Given the description of an element on the screen output the (x, y) to click on. 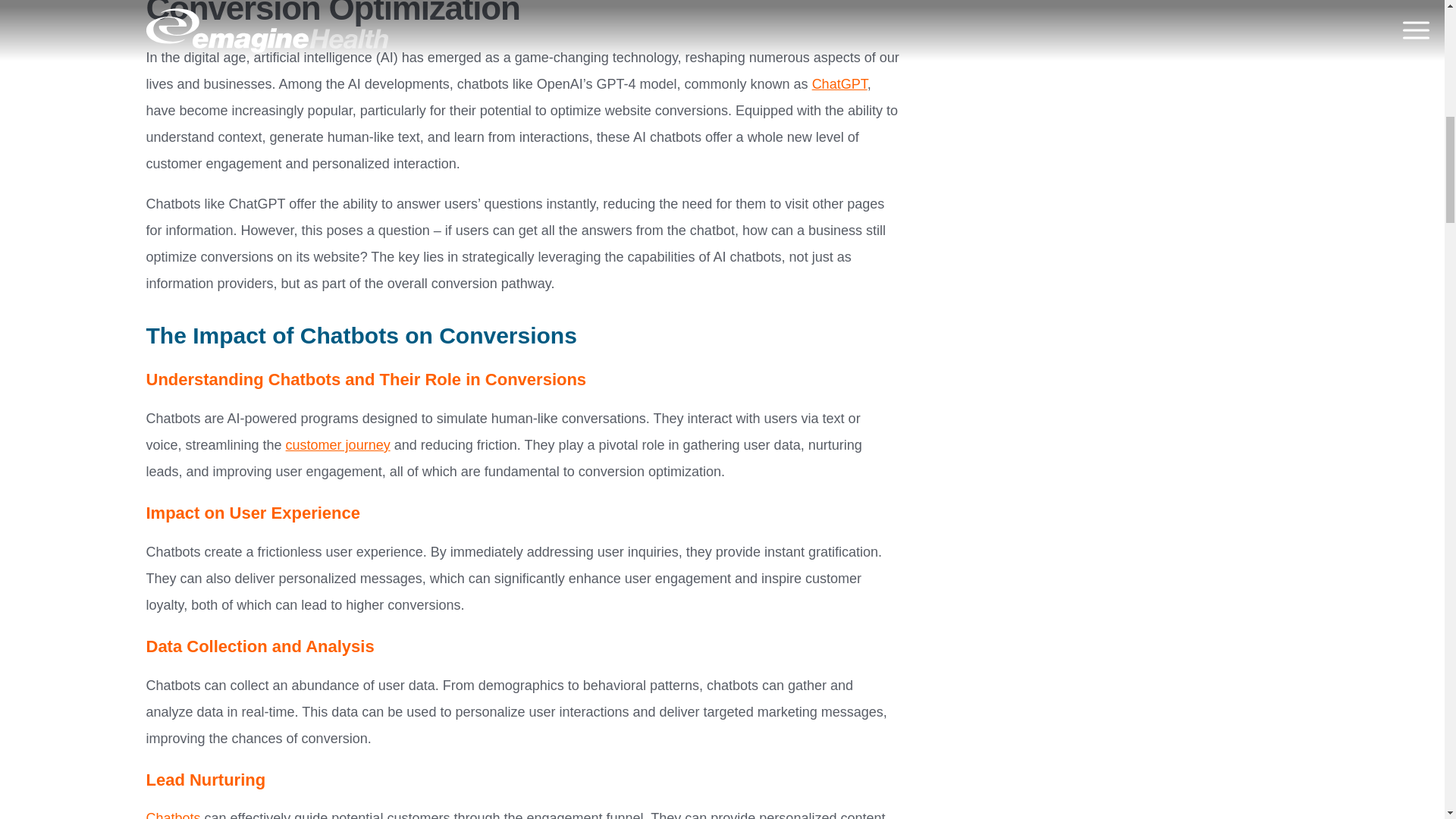
ChatGPT (839, 83)
customer journey (337, 444)
Chatbots (172, 814)
